Given the description of an element on the screen output the (x, y) to click on. 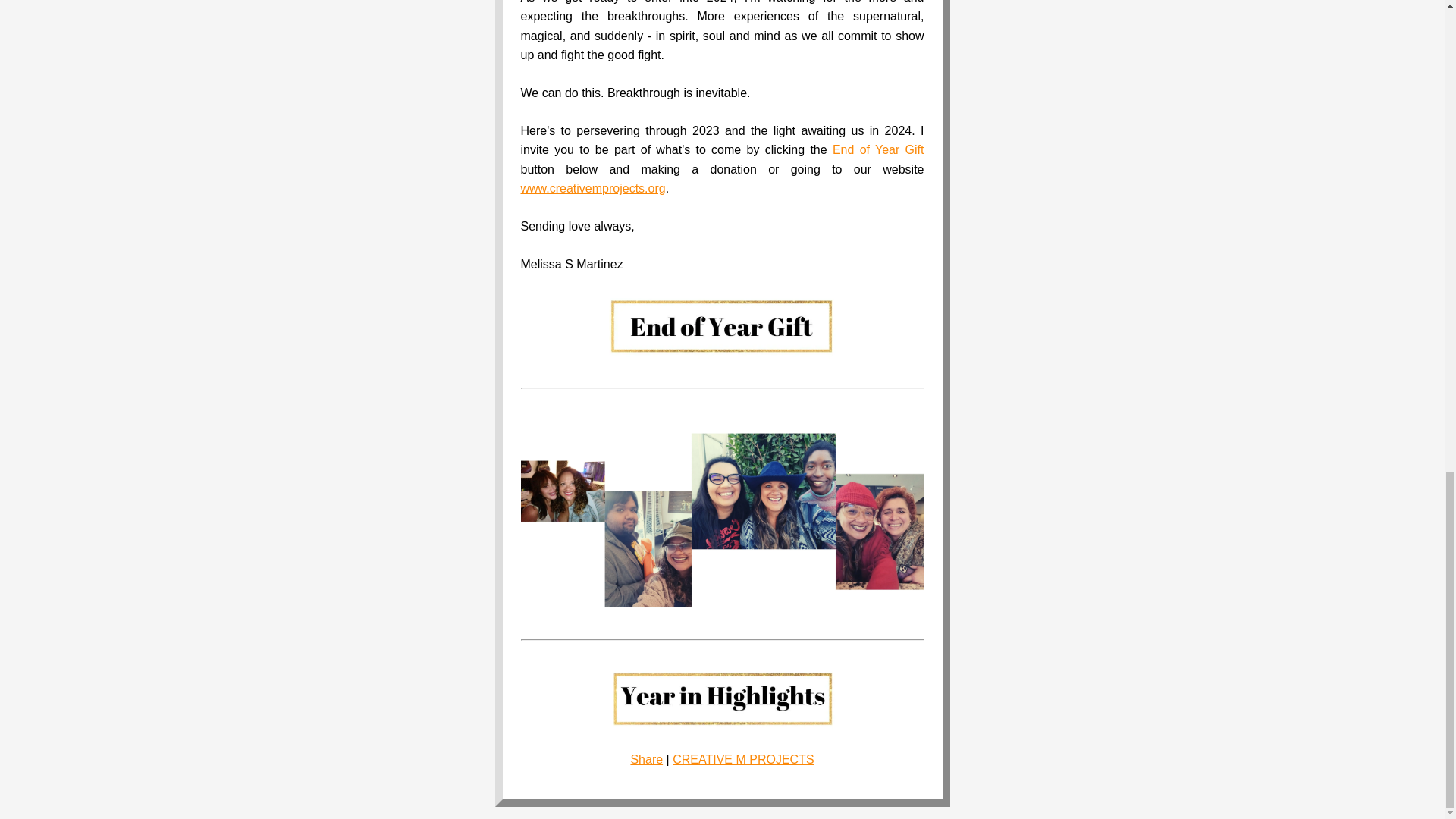
Share (646, 758)
End of Year Gift (878, 149)
CREATIVE M PROJECTS (742, 758)
Share Share Reflecting on Suddenly (646, 758)
www.creativemprojects.org (592, 187)
